Given the description of an element on the screen output the (x, y) to click on. 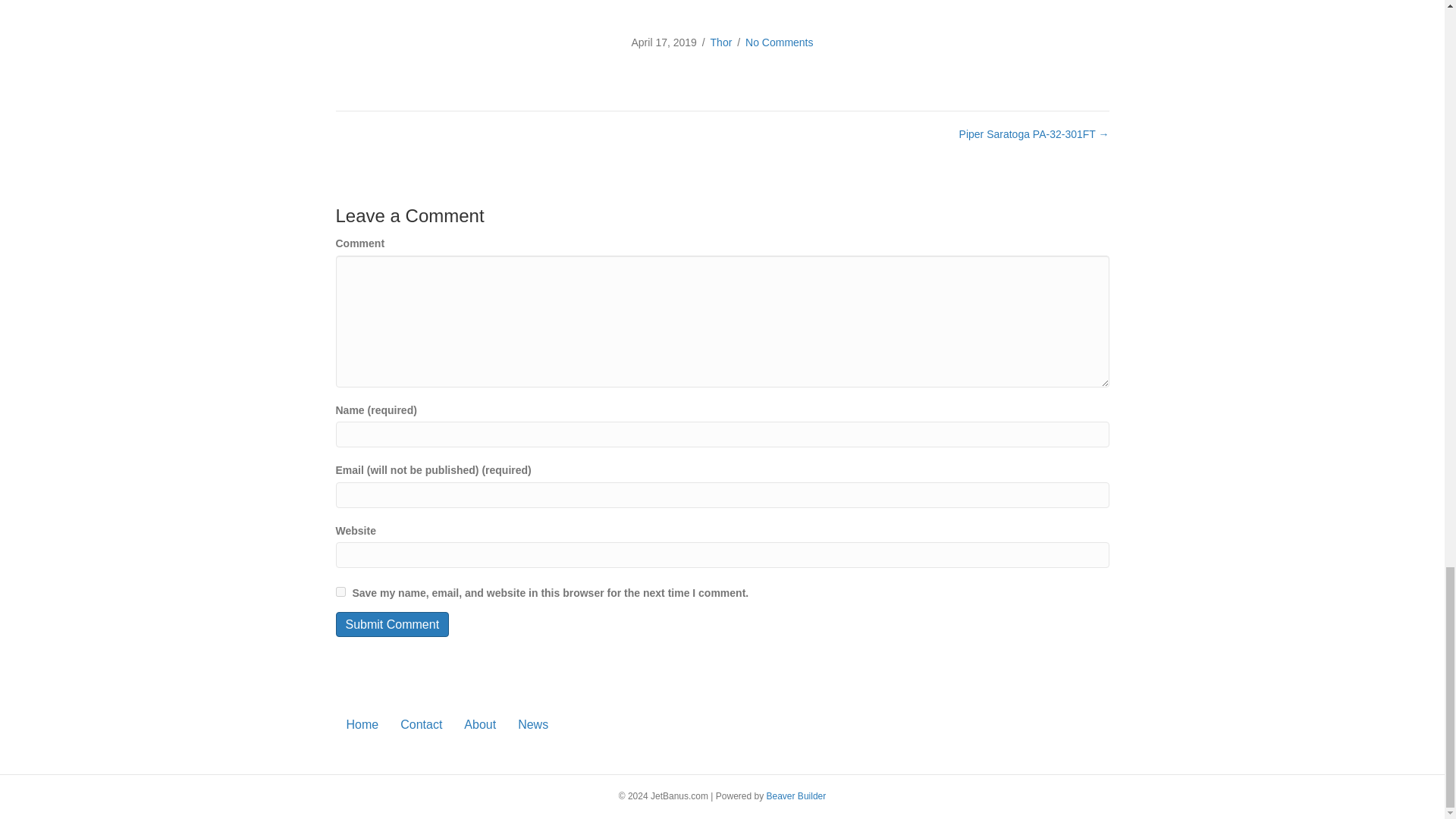
WordPress Page Builder Plugin (797, 796)
Submit Comment (391, 624)
Home (361, 724)
Thor (721, 42)
About (479, 724)
Submit Comment (391, 624)
Beaver Builder (797, 796)
No Comments (778, 42)
yes (339, 592)
Contact (421, 724)
News (532, 724)
